Given the description of an element on the screen output the (x, y) to click on. 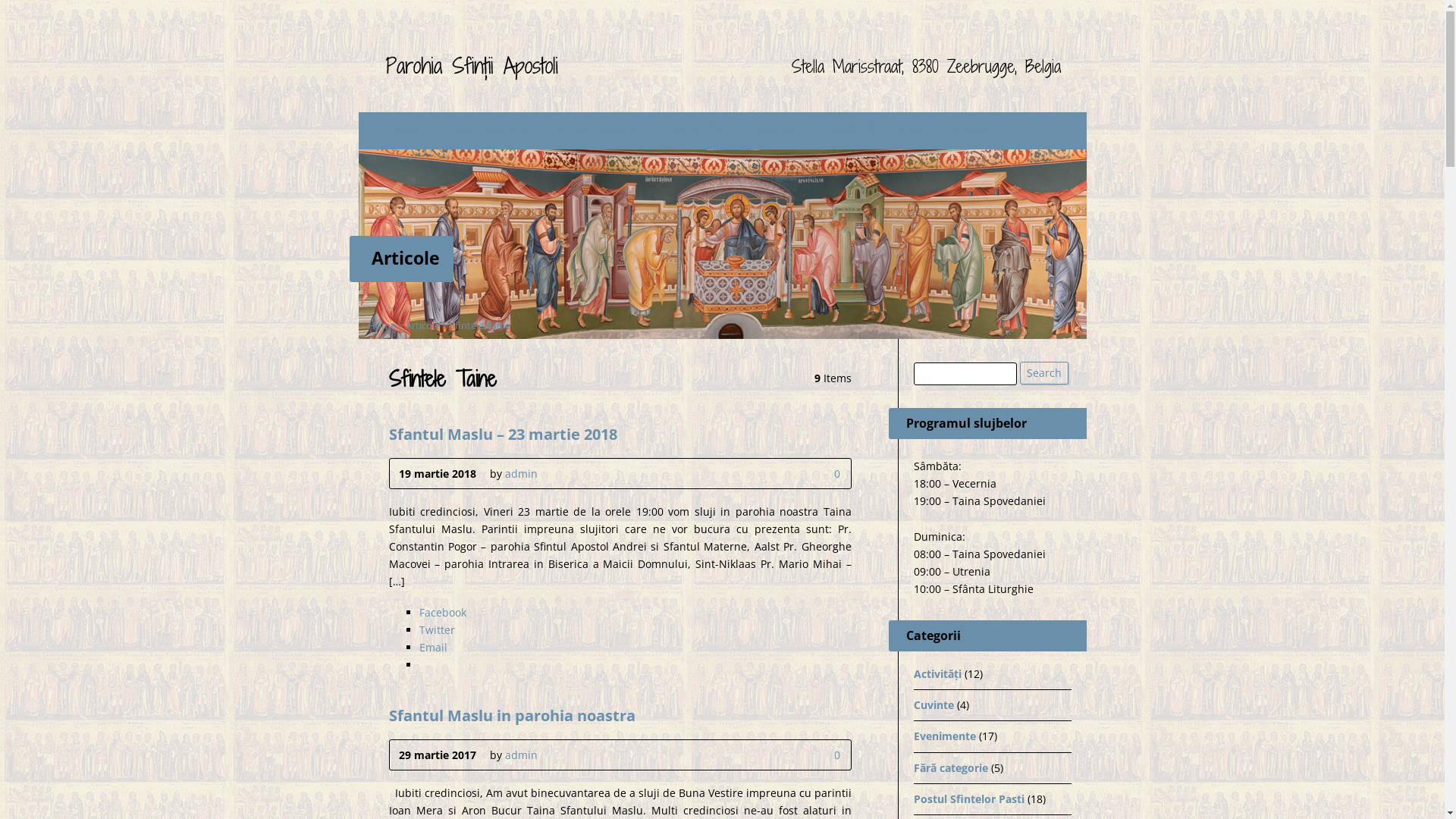
Galerii foto Element type: text (696, 128)
0 Element type: text (834, 473)
Facebook Element type: text (441, 612)
Home Element type: text (381, 325)
Contact Element type: text (965, 128)
Evenimente Element type: text (944, 735)
0 Element type: text (821, 754)
Twitter Element type: text (436, 629)
Sfantul Maslu in parohia noastra Element type: text (511, 713)
Email Element type: text (432, 647)
RSS Element type: hover (1058, 129)
0 Element type: text (834, 754)
Postul Sfintelor Pasti Element type: text (968, 798)
admin Element type: text (521, 473)
Articole Element type: text (775, 128)
Despre parohie Element type: text (485, 128)
Sfintele Taine Element type: text (478, 325)
Cuvinte Element type: text (933, 704)
Articole Element type: text (421, 325)
Search Element type: text (1043, 372)
admin Element type: text (521, 754)
0 Element type: text (821, 473)
